Given the description of an element on the screen output the (x, y) to click on. 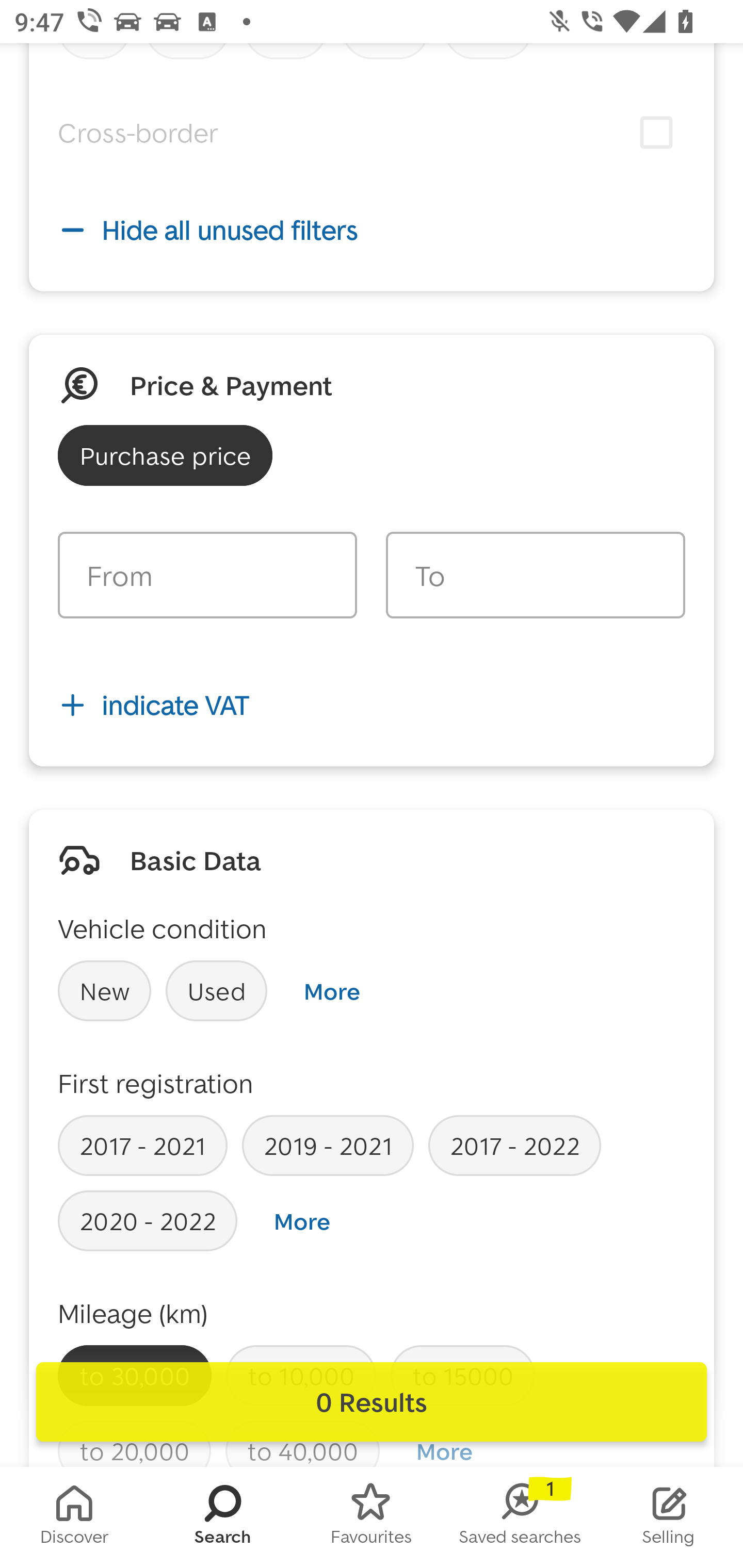
Hide all unused filters (371, 229)
Price & Payment (231, 385)
Purchase price (164, 455)
From (207, 574)
To (535, 574)
indicate VAT (371, 704)
Basic Data (195, 860)
Vehicle condition (161, 928)
New (103, 989)
Used (216, 989)
More (331, 990)
First registration (155, 1083)
2017 - 2021 (142, 1145)
2019 - 2021 (327, 1145)
2017 - 2022 (514, 1145)
2020 - 2022 (147, 1220)
More (301, 1221)
Mileage (km) (132, 1313)
0 Results (371, 1401)
HOMESCREEN Discover (74, 1517)
SEARCH Search (222, 1517)
FAVORITES Favourites (371, 1517)
SAVED_SEARCHES Saved searches 1 (519, 1517)
STOCK_LIST Selling (668, 1517)
